Given the description of an element on the screen output the (x, y) to click on. 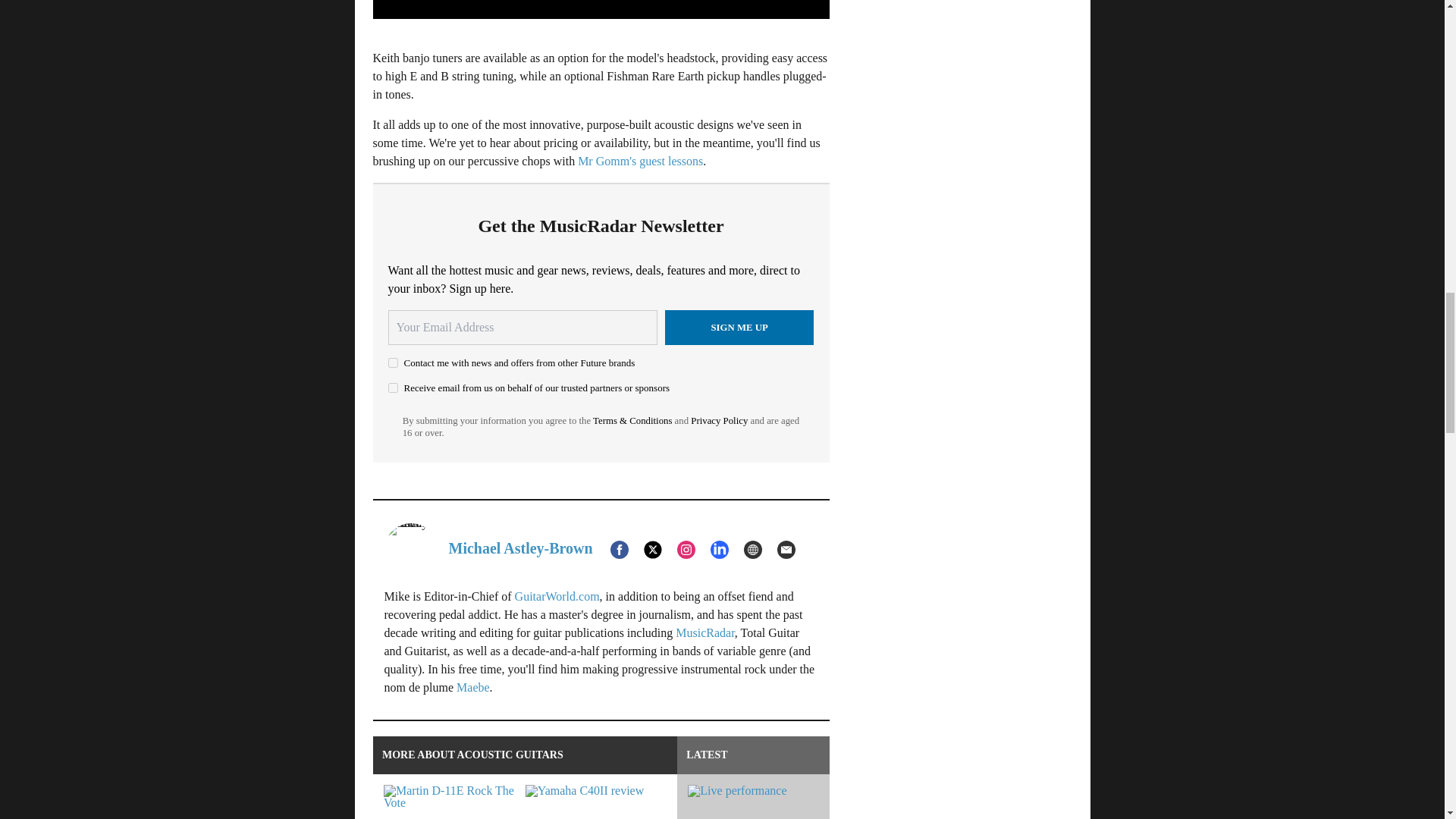
on (392, 388)
Sign me up (739, 327)
on (392, 362)
